Given the description of an element on the screen output the (x, y) to click on. 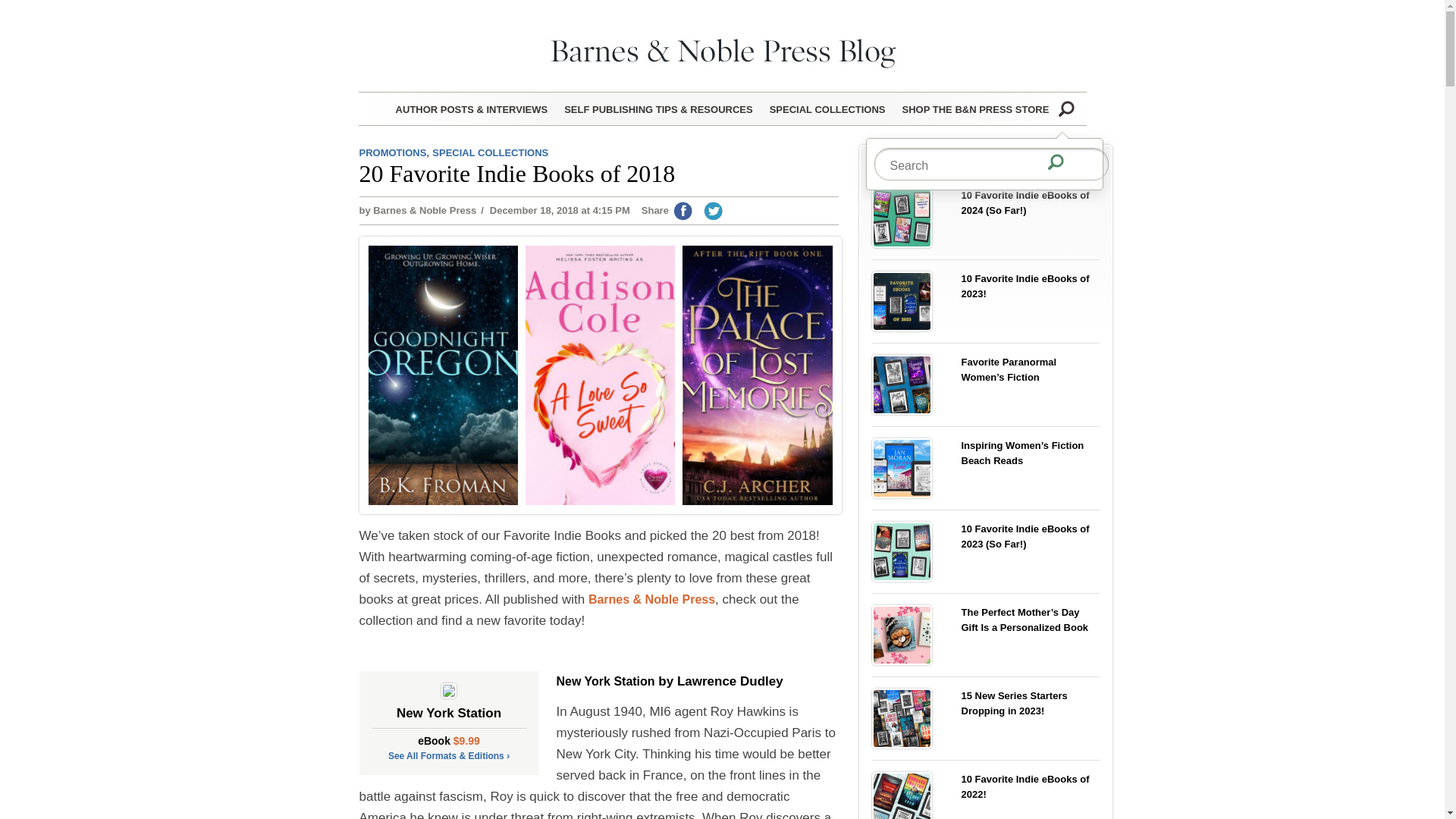
15 New Series Starters Dropping in 2023! (901, 717)
Search (1066, 108)
SPECIAL COLLECTIONS (826, 106)
10 Favorite Indie eBooks of 2022! (901, 800)
Permalink to 20 Favorite Indie Books of 2018 (517, 173)
20 Favorite Indie Books of 2018 (517, 173)
10 Favorite Indie eBooks of 2023! (901, 300)
SPECIAL COLLECTIONS (490, 152)
New York Station (449, 716)
PROMOTIONS (392, 152)
New York Station (605, 680)
